Given the description of an element on the screen output the (x, y) to click on. 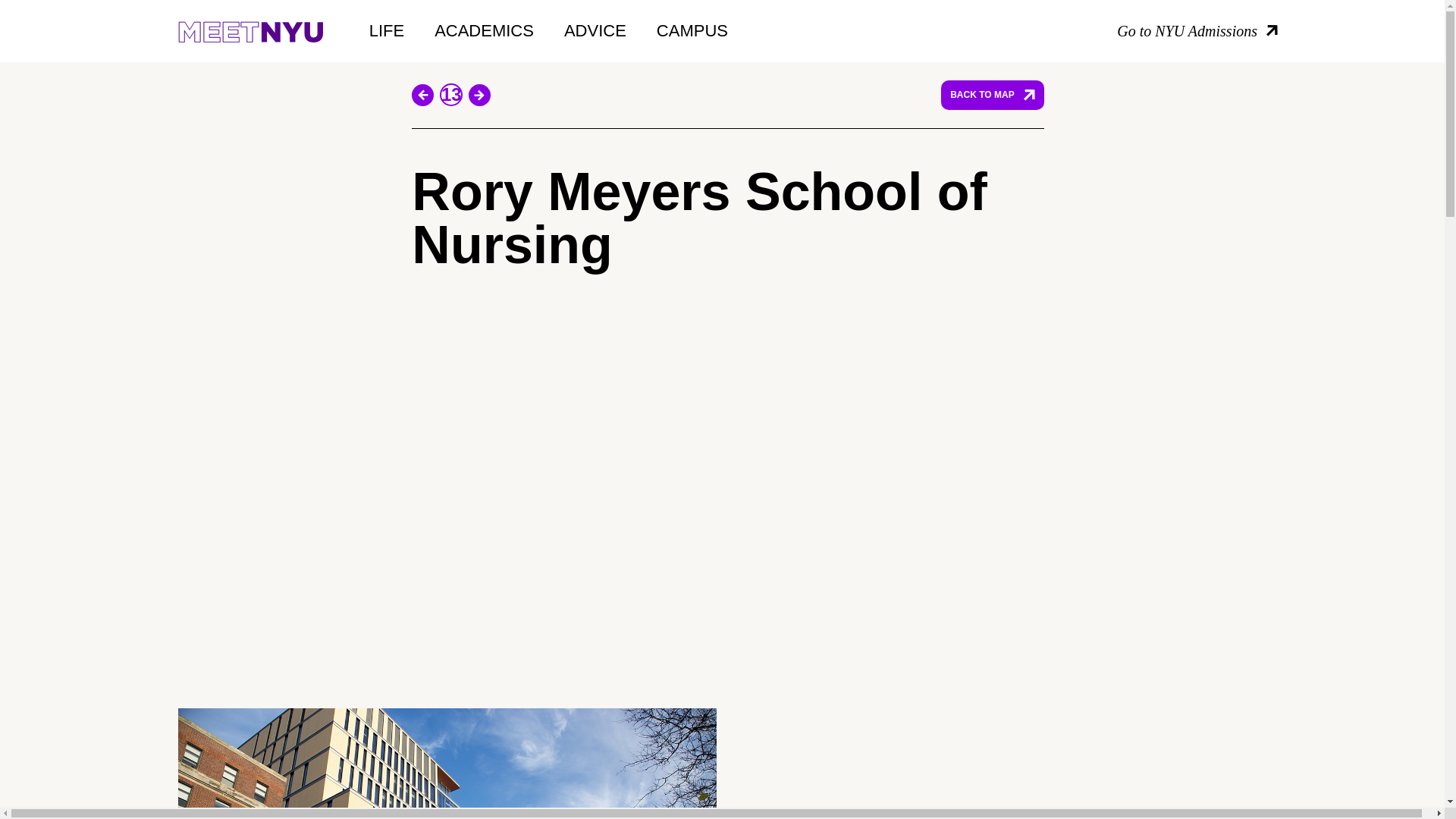
CAMPUS (692, 31)
ADVICE (595, 31)
Go to NYU Admissions (1197, 30)
LIFE (386, 31)
ACADEMICS (483, 31)
BACK TO MAP (991, 94)
